Given the description of an element on the screen output the (x, y) to click on. 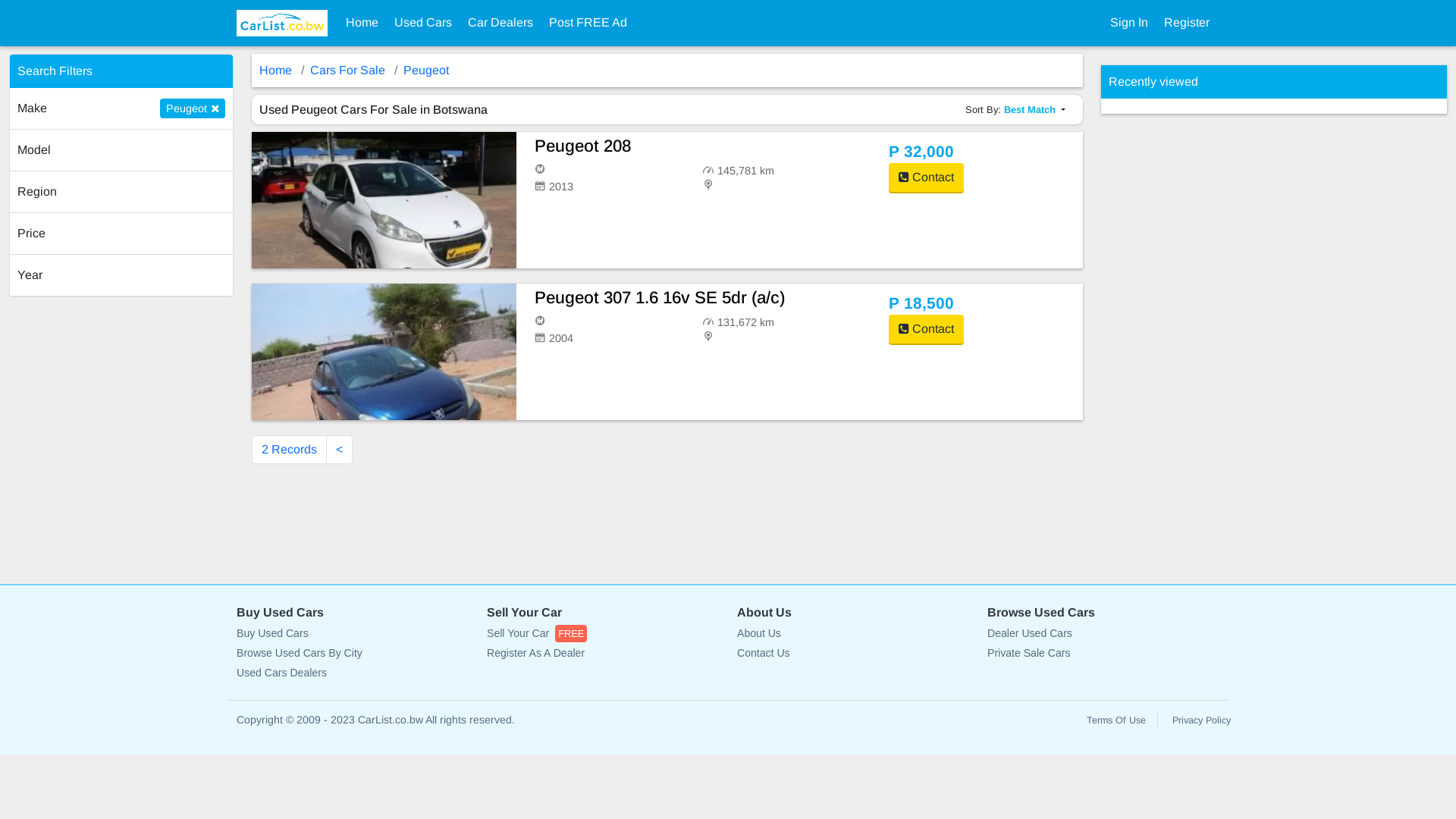
Contact Element type: text (925, 328)
Private Sale Cars Element type: text (1103, 653)
Home Element type: text (361, 22)
Car Dealers Element type: text (500, 22)
Browse Used Cars By City Element type: text (352, 653)
< Element type: text (339, 449)
Advertisement Element type: hover (1214, 340)
Privacy Policy Element type: text (1201, 720)
Register As A Dealer Element type: text (602, 653)
Post FREE Ad Element type: text (587, 22)
Peugeot 208 Element type: text (702, 146)
Cars For Sale Element type: text (347, 69)
Buy Used Cars Element type: text (352, 633)
Contact Element type: text (925, 177)
Used Cars Element type: text (423, 22)
Dealer Used Cars Element type: text (1103, 633)
Home Element type: text (275, 69)
Peugeot Element type: text (425, 69)
About Us Element type: text (853, 633)
Peugeot 307 1.6 16v SE 5dr (a/c) Element type: text (702, 298)
Register Element type: text (1186, 22)
Used Cars Dealers Element type: text (352, 672)
Sign In Element type: text (1129, 22)
Contact Us Element type: text (853, 653)
2 Records Element type: text (288, 449)
Sell Your CarFREE Element type: text (602, 633)
Sort By: Best Match Element type: text (1015, 109)
Terms Of Use Element type: text (1116, 720)
